Given the description of an element on the screen output the (x, y) to click on. 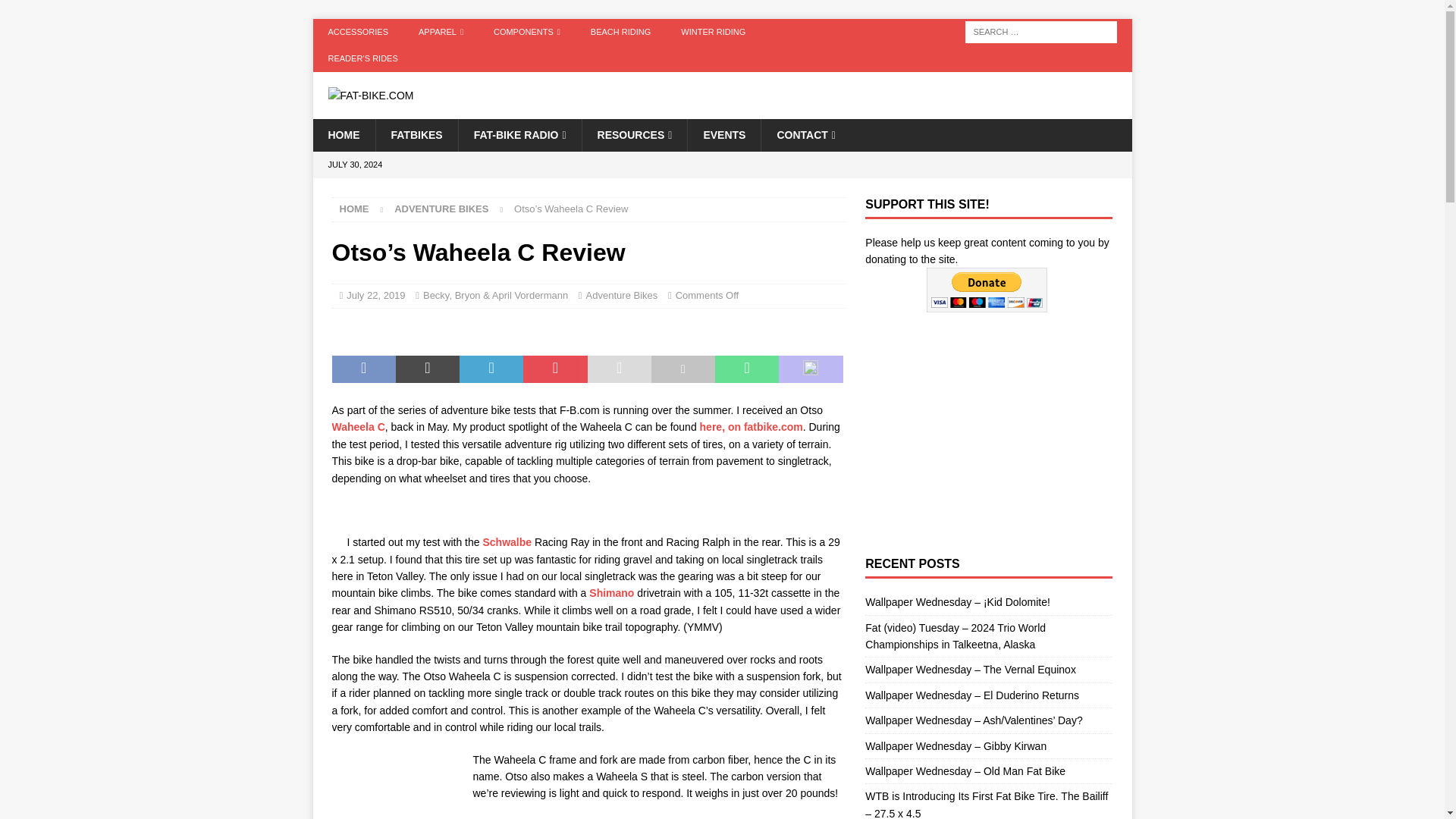
ACCESSORIES (358, 31)
BEACH RIDING (620, 31)
Pin This Post (554, 369)
COMPONENTS (527, 31)
Send this article to a friend (619, 369)
Search (56, 11)
Adventure Bikes (440, 208)
Share On Mastodon (810, 369)
Share on Whatsapp (746, 369)
Share on LinkedIn (491, 369)
WINTER RIDING (712, 31)
Tweet This Post (428, 369)
APPAREL (441, 31)
Home (354, 208)
Share on Facebook (363, 369)
